Given the description of an element on the screen output the (x, y) to click on. 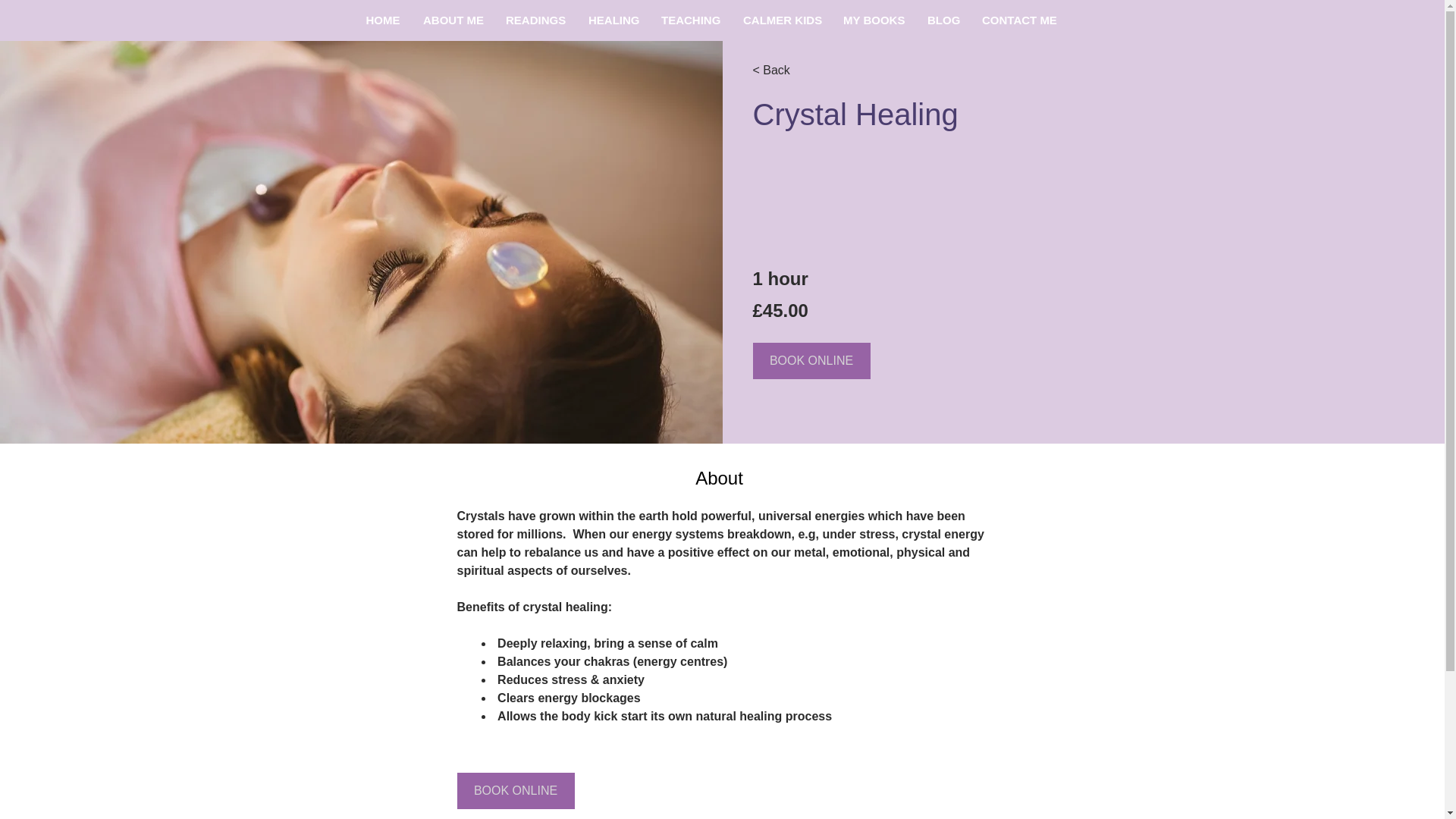
BOOK ONLINE (515, 791)
READINGS (535, 20)
ABOUT ME (453, 20)
BOOK ONLINE (810, 361)
HEALING (612, 20)
BLOG (943, 20)
CALMER KIDS (781, 20)
TEACHING (690, 20)
HOME (382, 20)
CONTACT ME (1019, 20)
MY BOOKS (873, 20)
